Given the description of an element on the screen output the (x, y) to click on. 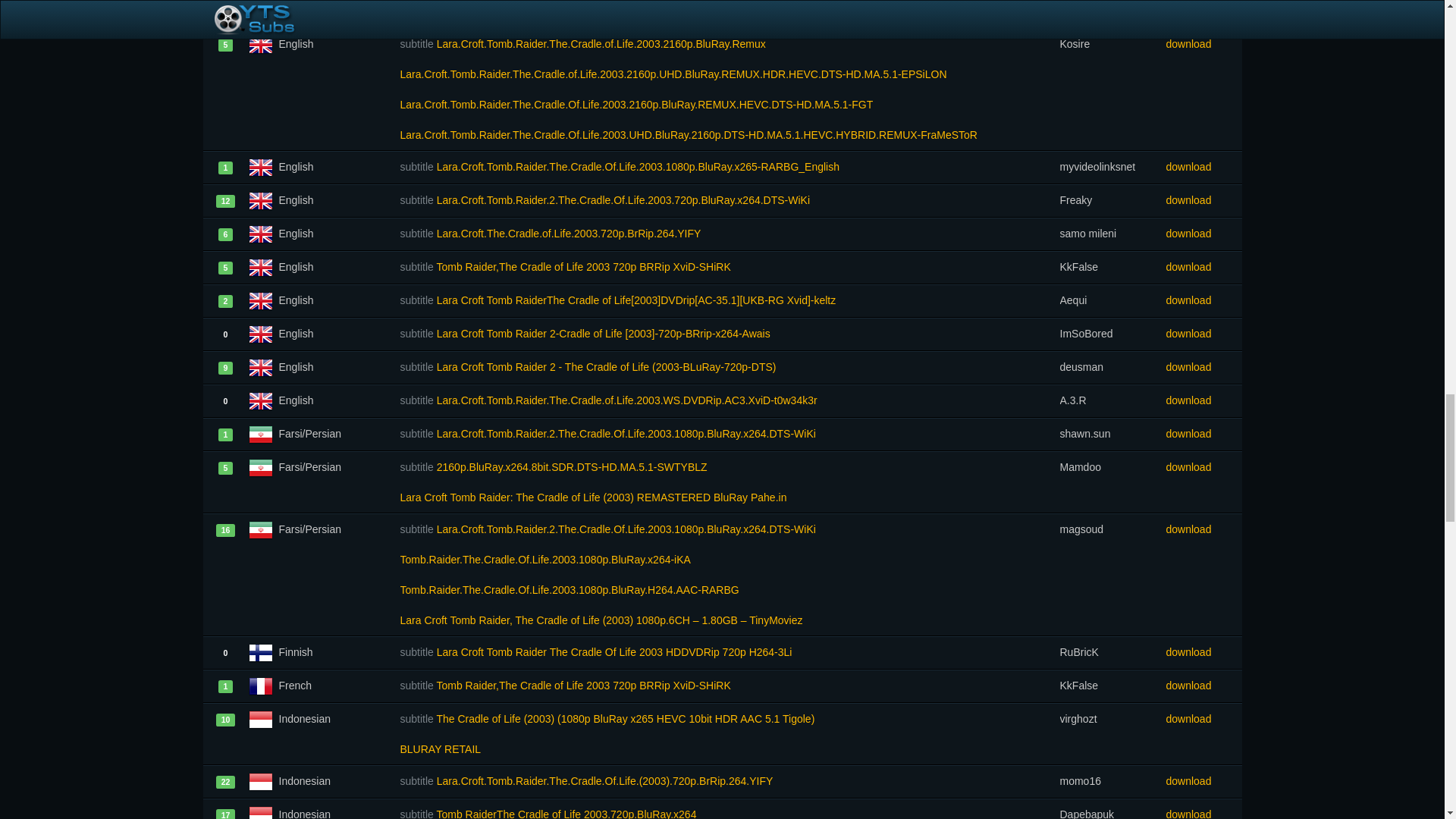
download (1203, 43)
download (1203, 12)
